Given the description of an element on the screen output the (x, y) to click on. 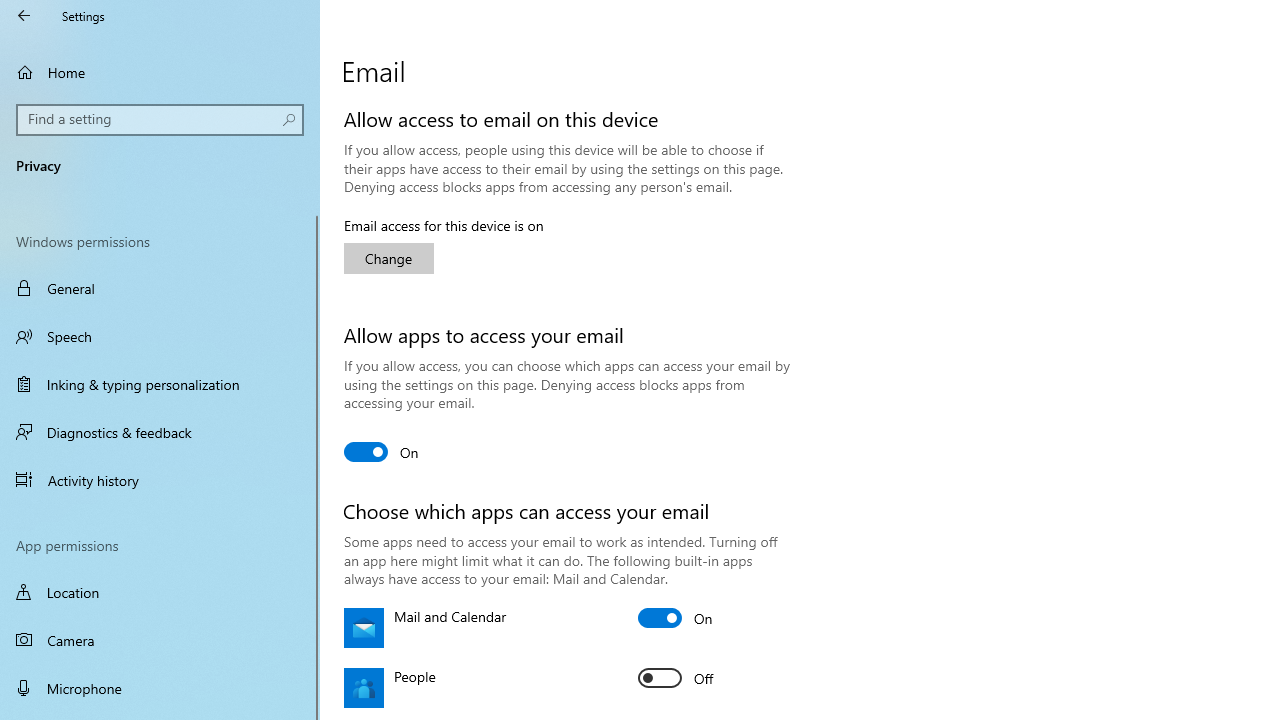
Microphone (160, 687)
Camera (160, 639)
Change (388, 258)
Inking & typing personalization (160, 384)
Back (24, 15)
Search box, Find a setting (160, 119)
Speech (160, 335)
Allow apps to access your email (381, 452)
Location (160, 592)
People (675, 677)
Diagnostics & feedback (160, 431)
Mail and Calendar (675, 617)
Home (160, 71)
Activity history (160, 479)
General (160, 287)
